Given the description of an element on the screen output the (x, y) to click on. 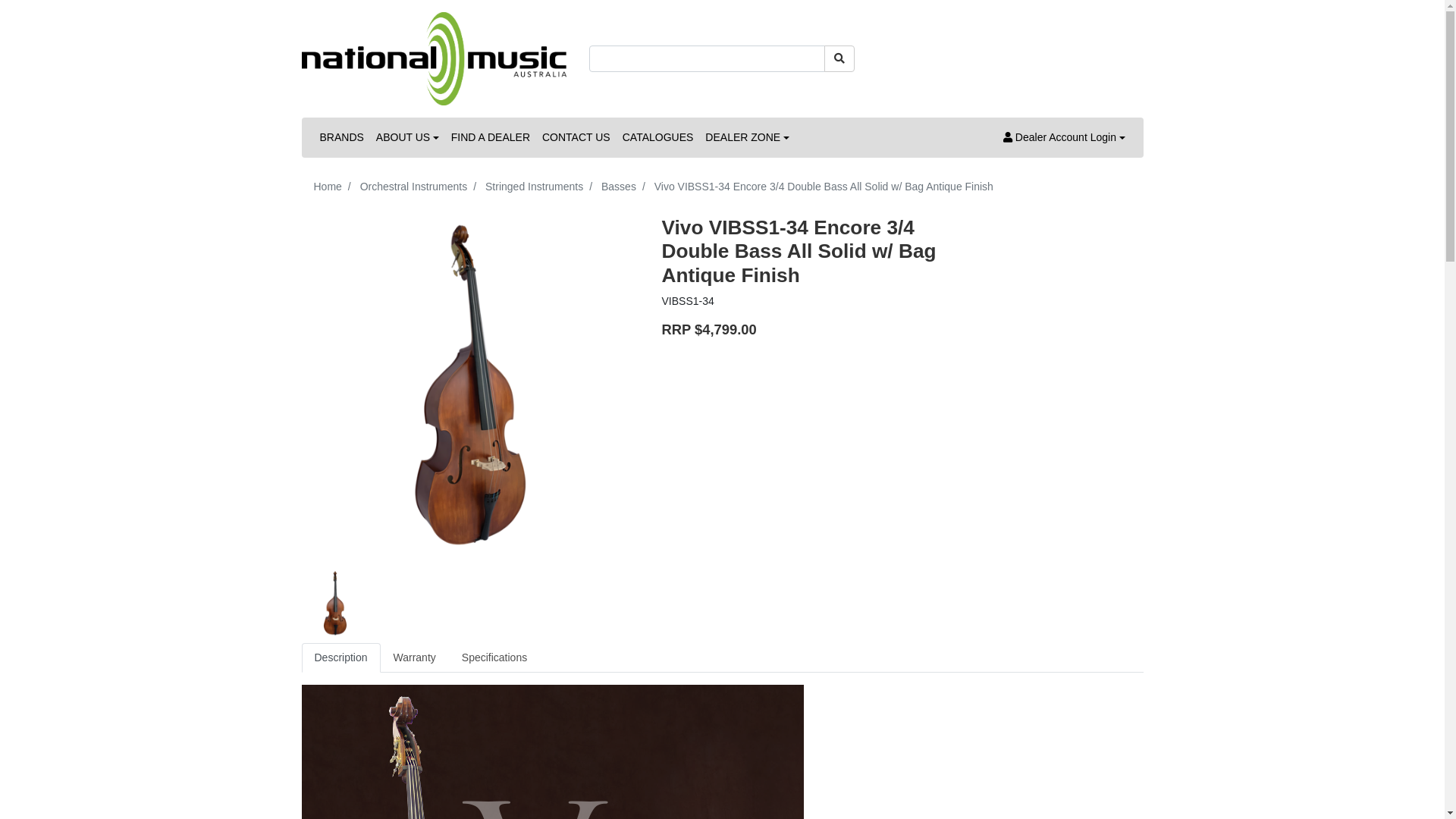
Home Element type: text (327, 186)
Search Element type: text (839, 58)
Description Element type: text (340, 657)
CONTACT US Element type: text (576, 137)
Stringed Instruments Element type: text (534, 186)
Warranty Element type: text (414, 657)
FIND A DEALER Element type: text (490, 137)
ABOUT US Element type: text (407, 137)
BRANDS Element type: text (341, 137)
Dealer Account Login Element type: text (1064, 137)
Basses Element type: text (618, 186)
Orchestral Instruments Element type: text (413, 186)
National Music Element type: hover (434, 57)
CATALOGUES Element type: text (657, 137)
DEALER ZONE Element type: text (746, 137)
Specifications Element type: text (493, 657)
